Given the description of an element on the screen output the (x, y) to click on. 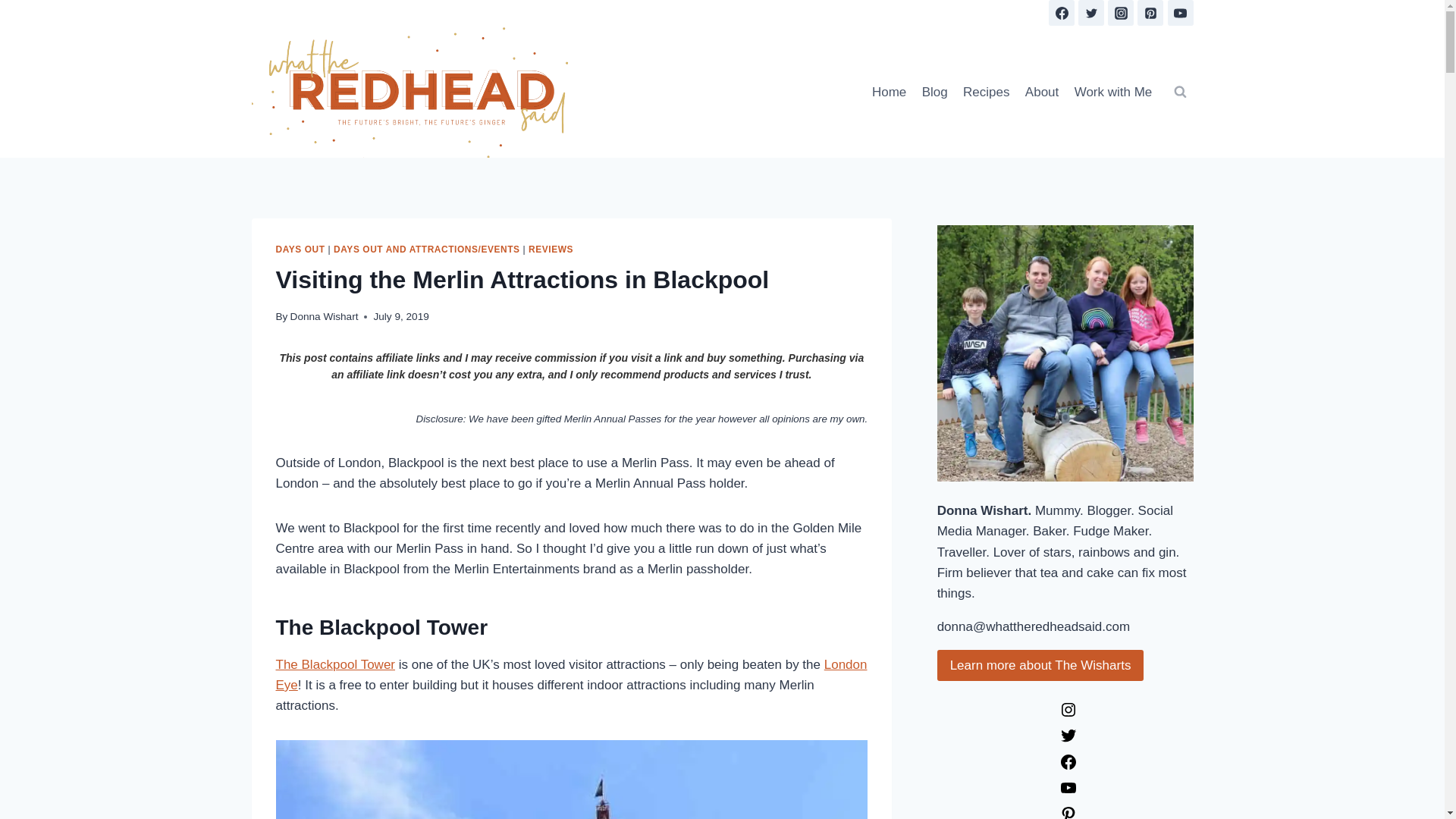
Blog (934, 91)
Work with Me (1111, 91)
Donna Wishart (323, 316)
DAYS OUT (300, 249)
About (1042, 91)
The Blackpool Tower (336, 664)
Home (889, 91)
Recipes (986, 91)
REVIEWS (550, 249)
London Eye (571, 674)
